Given the description of an element on the screen output the (x, y) to click on. 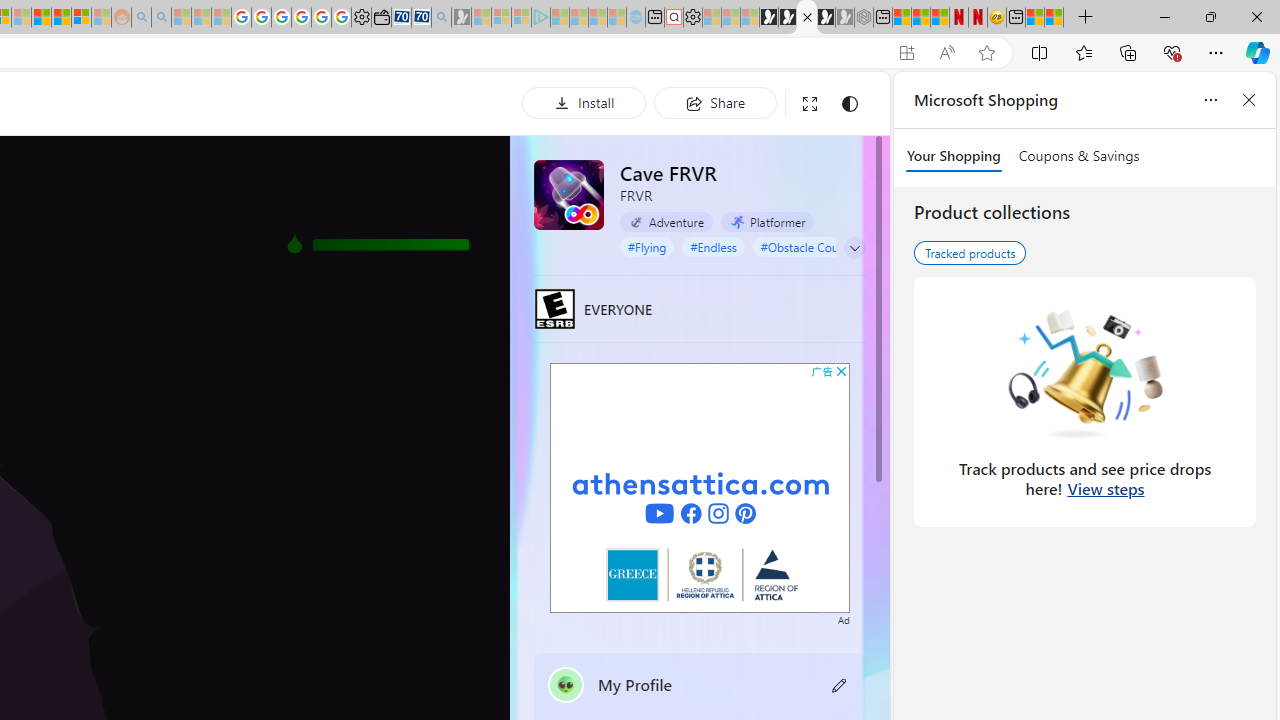
App available. Install Cave FRVR (906, 53)
Full screen (810, 103)
Wallet (381, 17)
Kinda Frugal - MSN (61, 17)
EVERYONE (554, 308)
""'s avatar (565, 684)
Install (583, 102)
Adventure (665, 221)
